Given the description of an element on the screen output the (x, y) to click on. 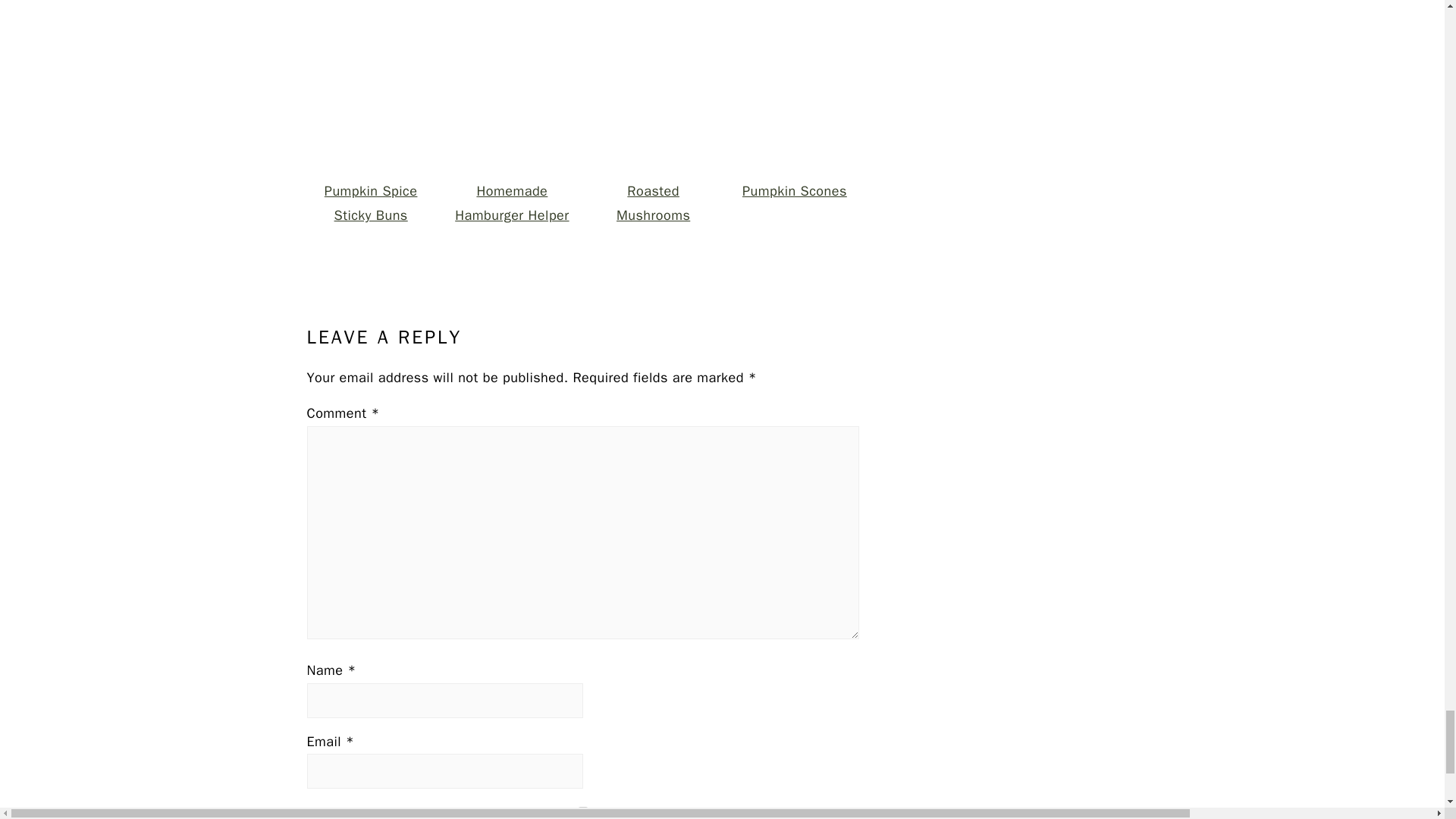
yes (582, 811)
